Given the description of an element on the screen output the (x, y) to click on. 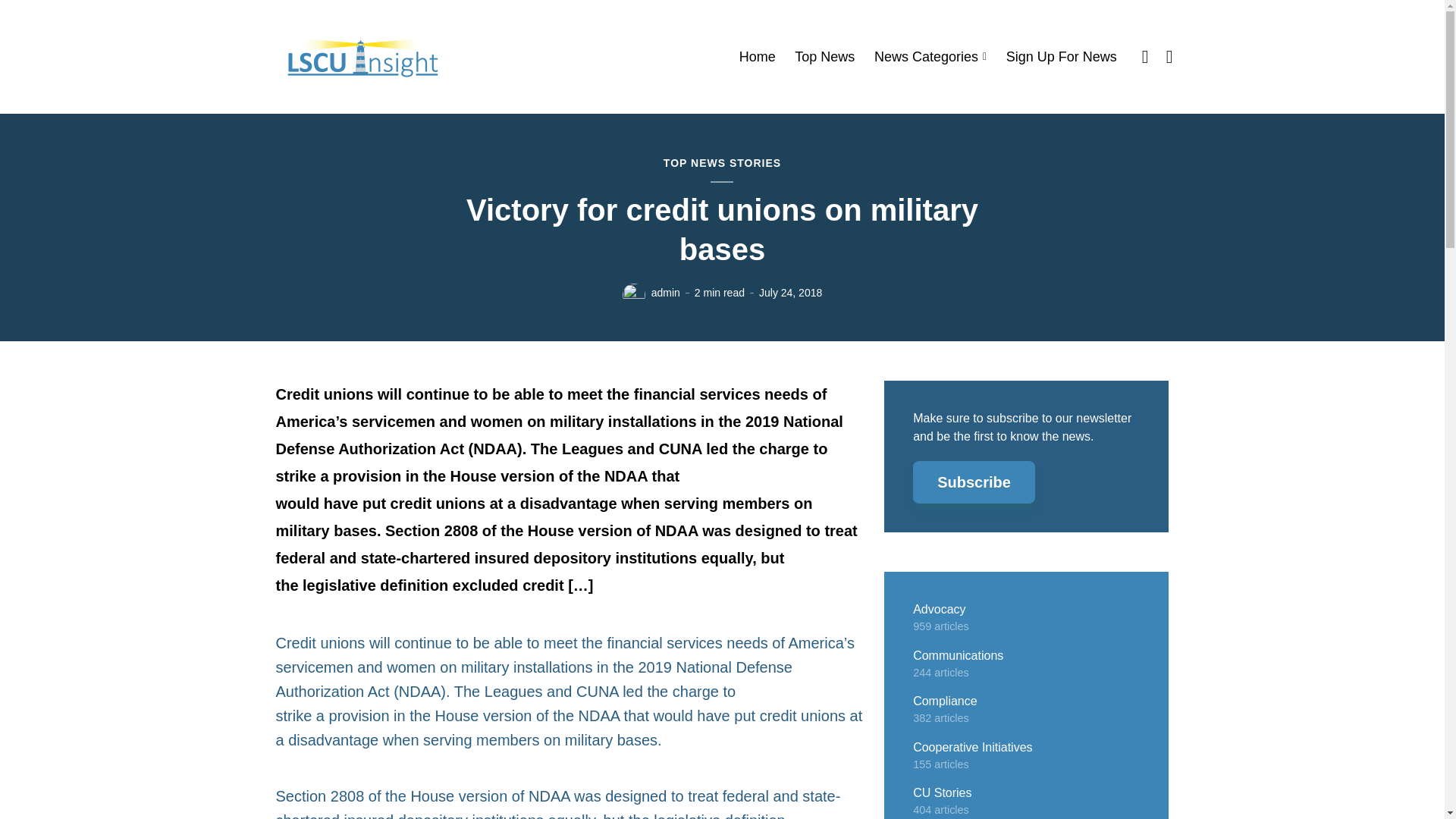
Sign Up For News (1061, 56)
TOP NEWS STORIES (721, 163)
Home (757, 56)
Top News (824, 56)
admin (664, 292)
News Categories (931, 56)
